Given the description of an element on the screen output the (x, y) to click on. 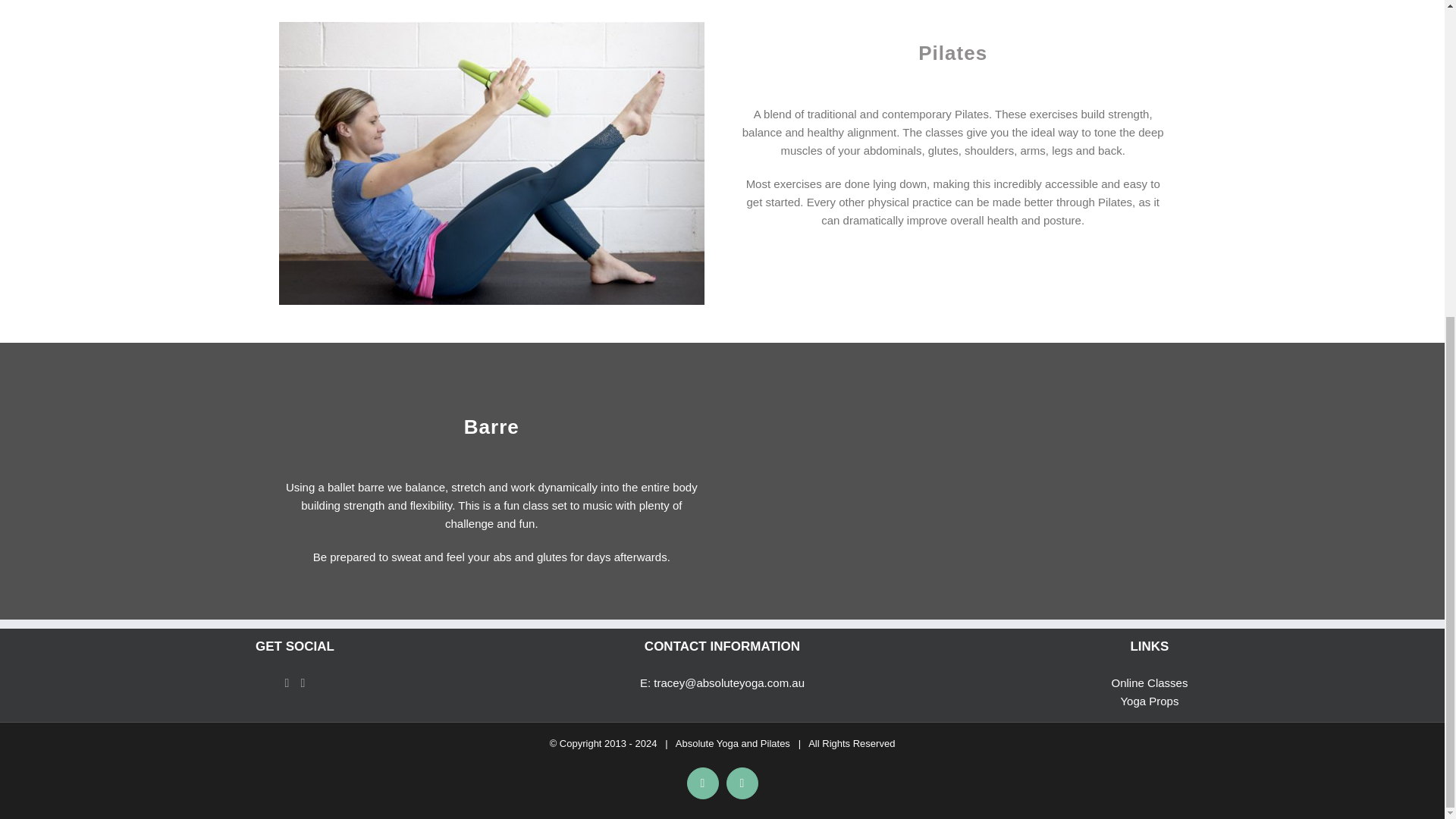
Facebook (703, 783)
Yoga Props (1148, 700)
Instagram (742, 783)
Facebook (703, 783)
Kirsty Pilates Classes (491, 163)
Instagram (742, 783)
Instagram (303, 683)
Online Classes (1150, 682)
Facebook (287, 683)
